Given the description of an element on the screen output the (x, y) to click on. 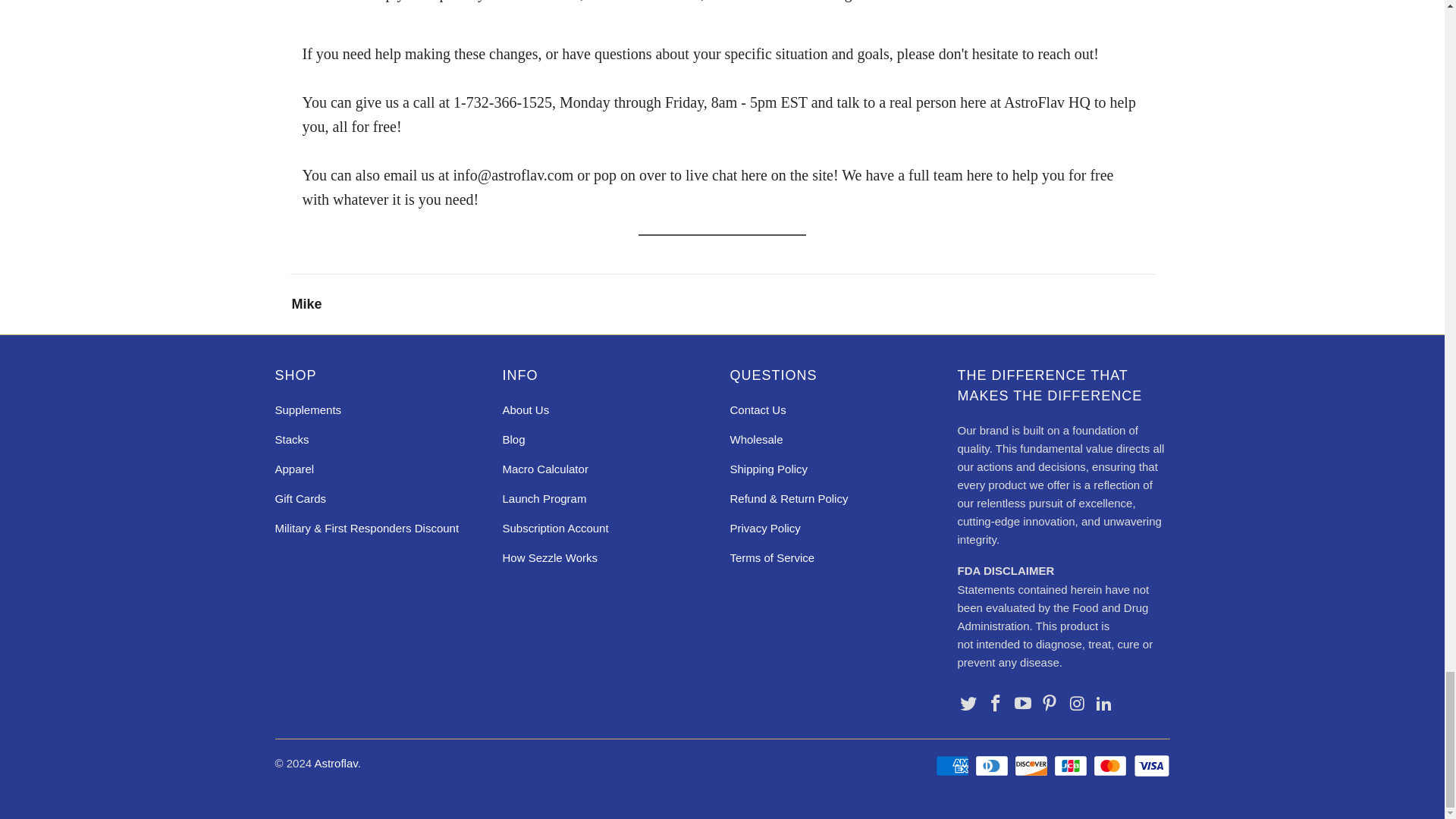
Discover (1032, 765)
Gift Cards (300, 498)
Astroflav on YouTube (1022, 704)
Astroflav on LinkedIn (1104, 704)
Astroflav on Instagram (1077, 704)
Astroflav on Facebook (995, 704)
JCB (1072, 765)
Diners Club (993, 765)
Launch Program (544, 498)
How Sezzle Works (549, 557)
